Given the description of an element on the screen output the (x, y) to click on. 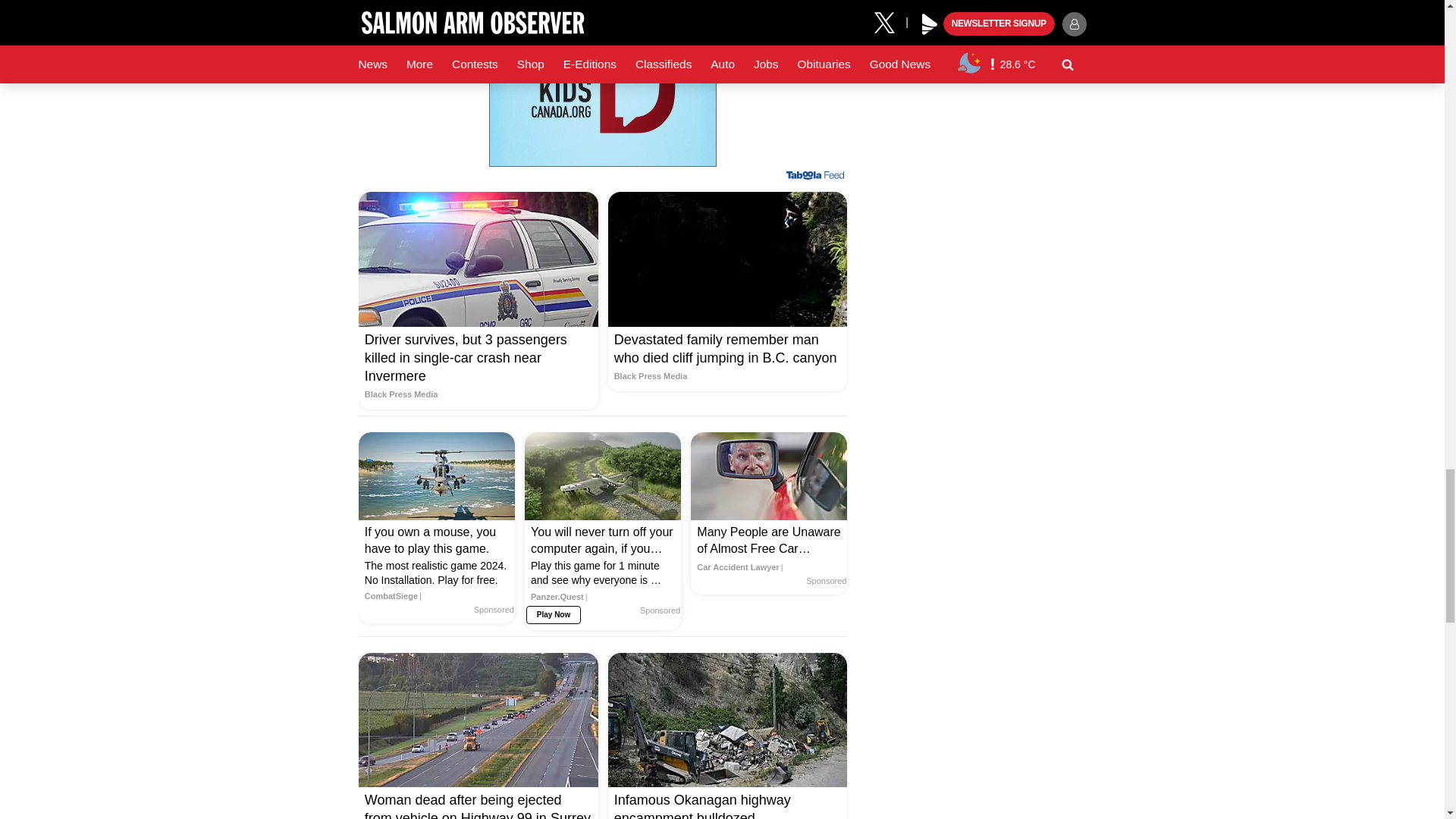
3rd party ad content (602, 83)
If you own a mouse, you have to play this game. (436, 476)
